Given the description of an element on the screen output the (x, y) to click on. 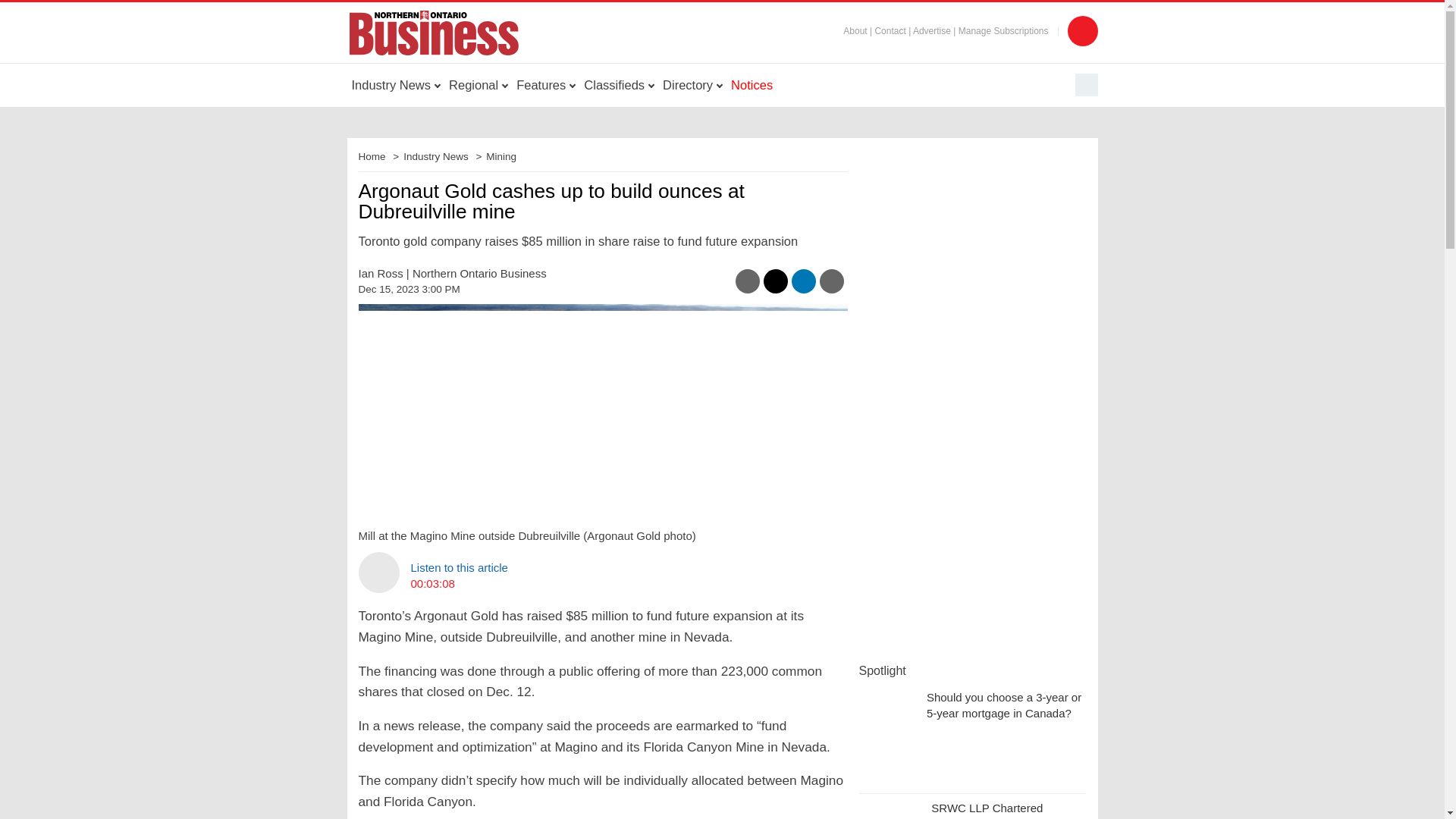
Industry News (396, 85)
About (854, 30)
Contact (890, 30)
Regional (478, 85)
Manage Subscriptions (1003, 30)
Advertise (931, 30)
